Given the description of an element on the screen output the (x, y) to click on. 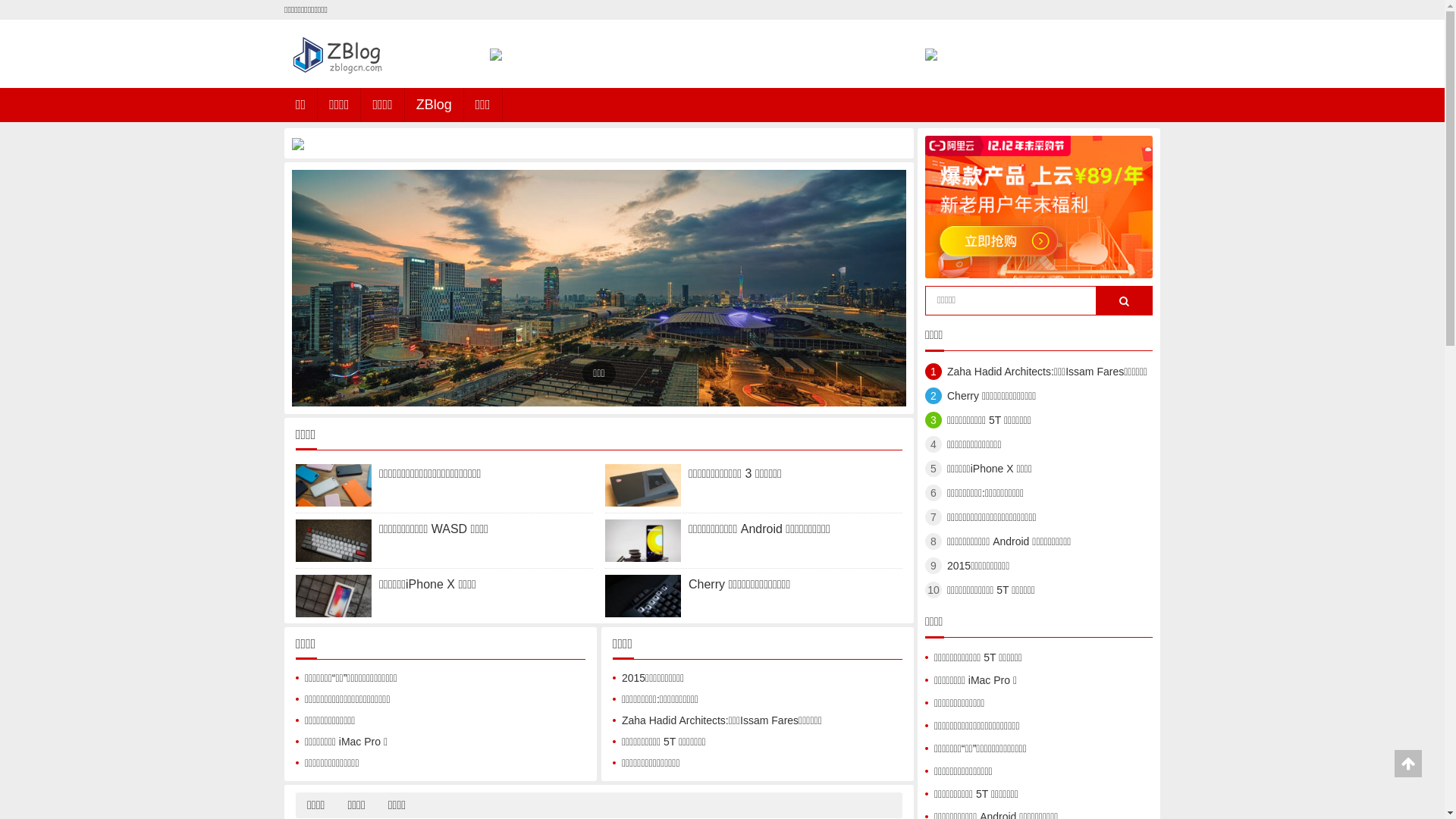
zblog Element type: text (473, 708)
ZBlog Element type: text (433, 104)
